Given the description of an element on the screen output the (x, y) to click on. 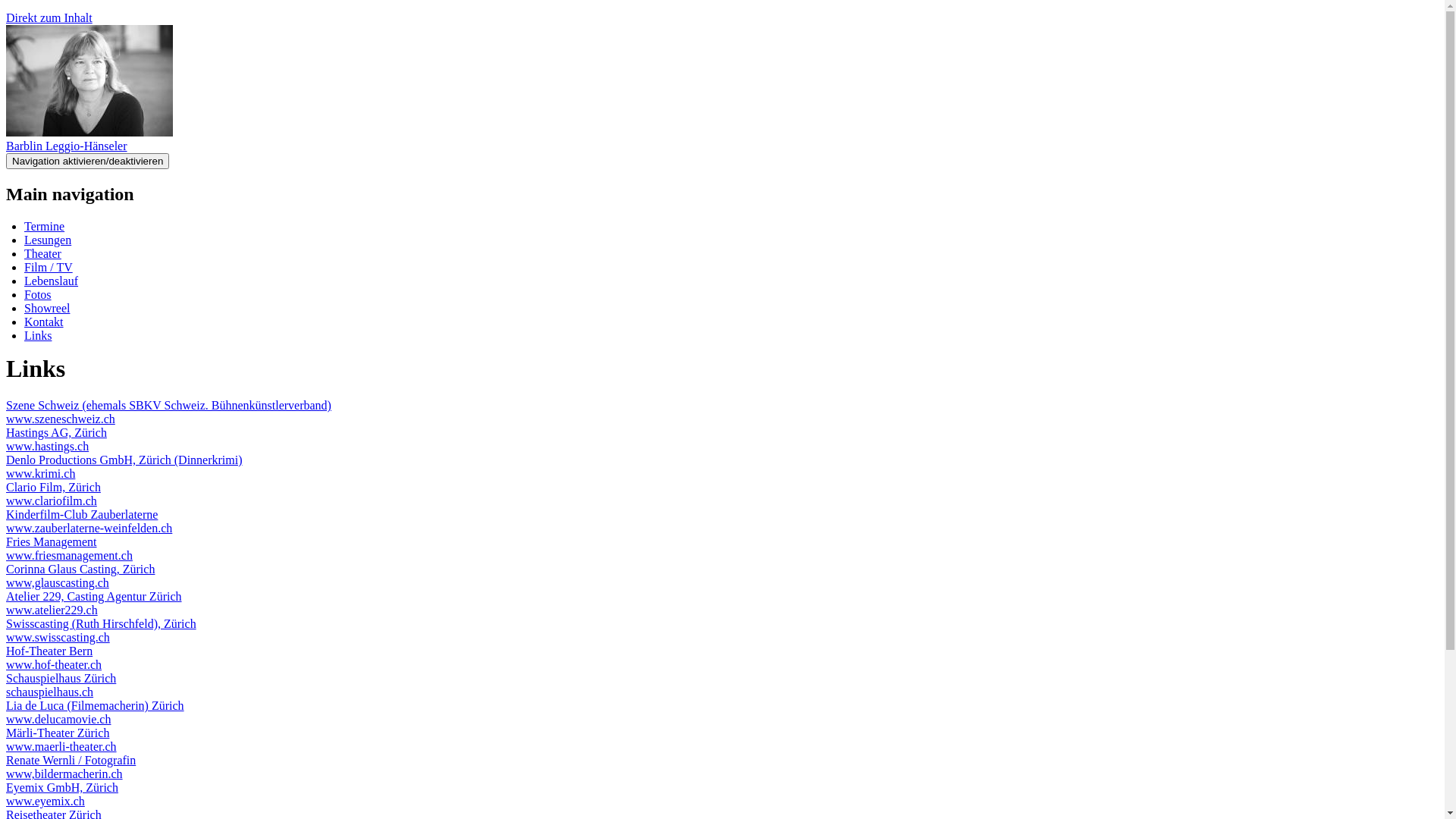
www.atelier229.ch Element type: text (51, 609)
www.maerli-theater.ch Element type: text (61, 746)
www.swisscasting.ch Element type: text (57, 636)
Termine Element type: text (44, 225)
www.friesmanagement.ch Element type: text (69, 555)
www.delucamovie.ch Element type: text (58, 718)
Lebenslauf Element type: text (51, 280)
www,glauscasting.ch Element type: text (57, 582)
www.zauberlaterne-weinfelden.ch Element type: text (89, 527)
www.hastings.ch Element type: text (47, 445)
Showreel Element type: text (46, 307)
Hof-Theater Bern Element type: text (49, 650)
www.clariofilm.ch Element type: text (51, 500)
Direkt zum Inhalt Element type: text (49, 17)
www.krimi.ch Element type: text (40, 473)
schauspielhaus.ch Element type: text (49, 691)
Film / TV Element type: text (48, 266)
Kontakt Element type: text (43, 321)
www,bildermacherin.ch Element type: text (64, 773)
www.szeneschweiz.ch Element type: text (60, 418)
Links Element type: text (37, 335)
www.eyemix.ch Element type: text (45, 800)
Kinderfilm-Club Zauberlaterne Element type: text (81, 514)
Theater Element type: text (42, 253)
Lesungen Element type: text (47, 239)
Navigation aktivieren/deaktivieren Element type: text (87, 161)
Renate Wernli / Fotografin Element type: text (70, 759)
Fotos Element type: text (37, 294)
www.hof-theater.ch Element type: text (53, 664)
Fries Management Element type: text (51, 541)
